Given the description of an element on the screen output the (x, y) to click on. 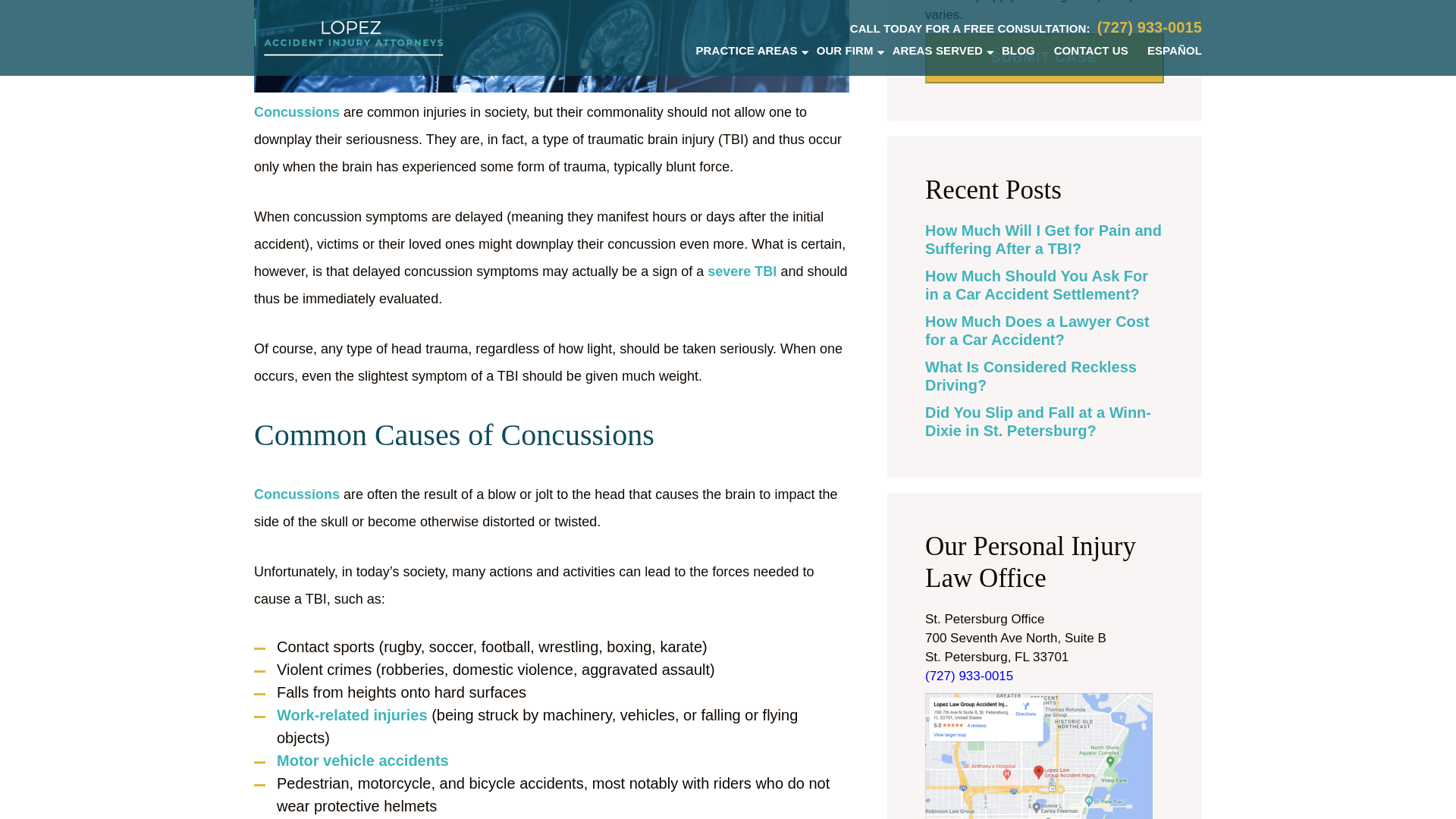
Concussions (296, 113)
Submit Case (1043, 58)
How Much Should You Ask For in a Car Accident Settlement? (1036, 284)
Concussions (296, 495)
severe TBI (741, 272)
Motor vehicle accidents (362, 761)
How Much Will I Get for Pain and Suffering After a TBI? (1042, 239)
Submit Case (1043, 58)
Work-related injuries (352, 715)
